Given the description of an element on the screen output the (x, y) to click on. 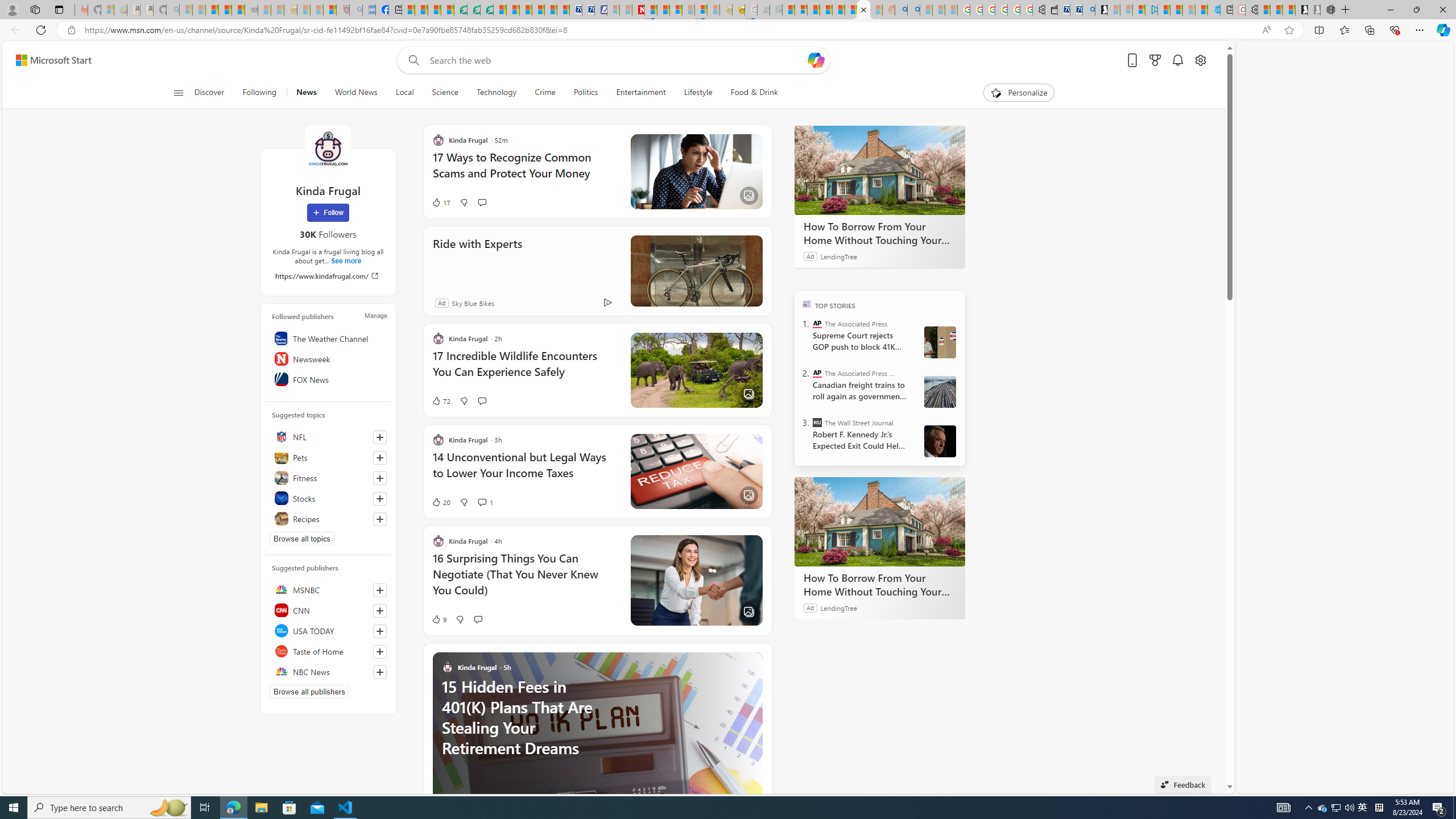
Trusted Community Engagement and Contributions | Guidelines (650, 9)
14 Common Myths Debunked By Scientific Facts (663, 9)
The Wall Street Journal (816, 422)
Stocks (327, 497)
Recipes - MSN - Sleeping (303, 9)
Food & Drink (753, 92)
News (306, 92)
The Weather Channel (327, 338)
